Given the description of an element on the screen output the (x, y) to click on. 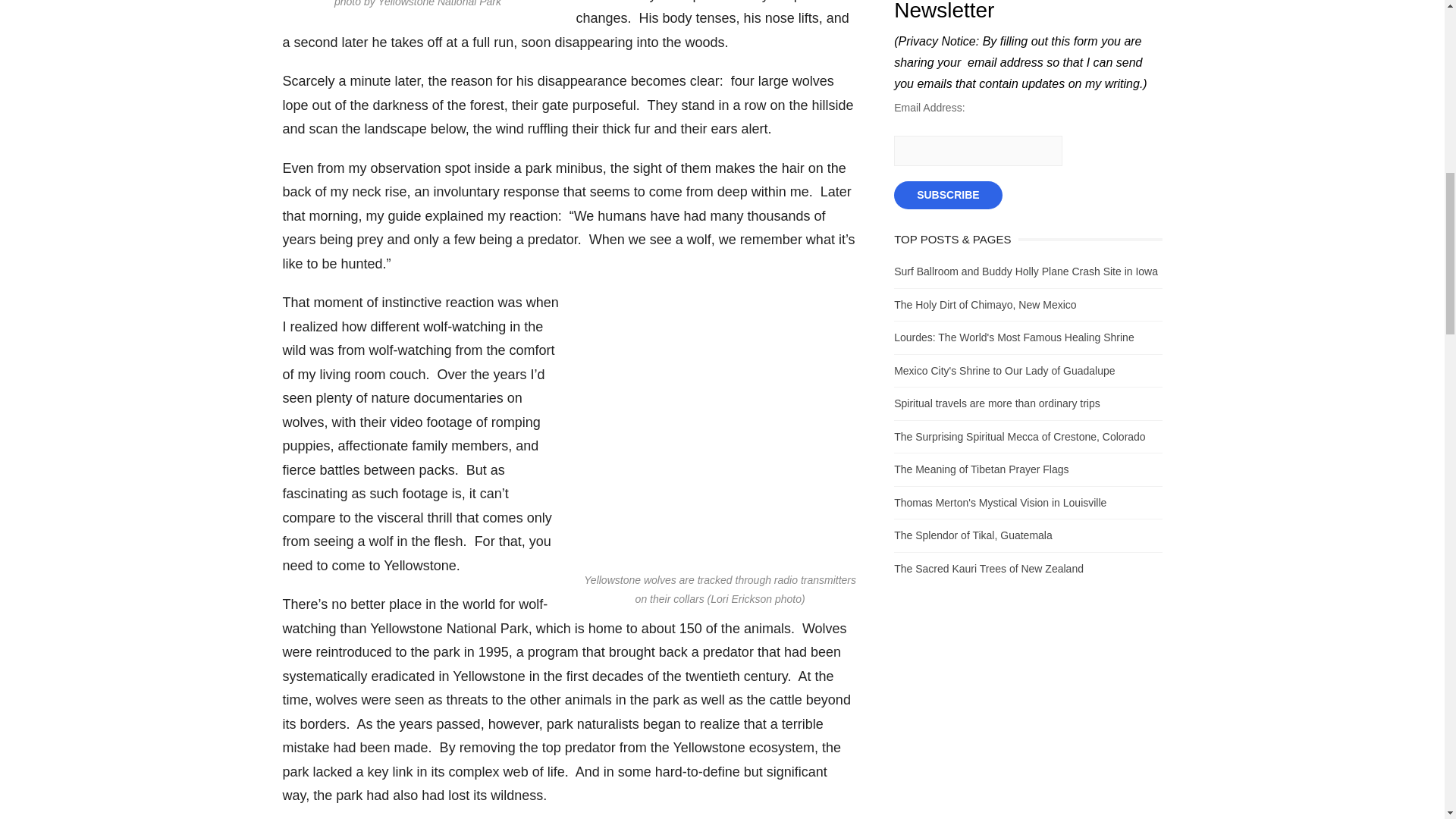
The Splendor of Tikal, Guatemala (972, 535)
Thomas Merton's Mystical Vision in Louisville (999, 501)
Subscribe (947, 194)
The Surprising Spiritual Mecca of Crestone, Colorado (1019, 436)
Surf Ballroom and Buddy Holly Plane Crash Site in Iowa (1025, 271)
Lourdes: The World's Most Famous Healing Shrine (1013, 337)
Spiritual travels are more than ordinary trips (996, 403)
Mexico City's Shrine to Our Lady of Guadalupe (1004, 369)
Subscribe (947, 194)
The Holy Dirt of Chimayo, New Mexico (984, 304)
The Sacred Kauri Trees of New Zealand (988, 568)
The Meaning of Tibetan Prayer Flags (980, 469)
